Given the description of an element on the screen output the (x, y) to click on. 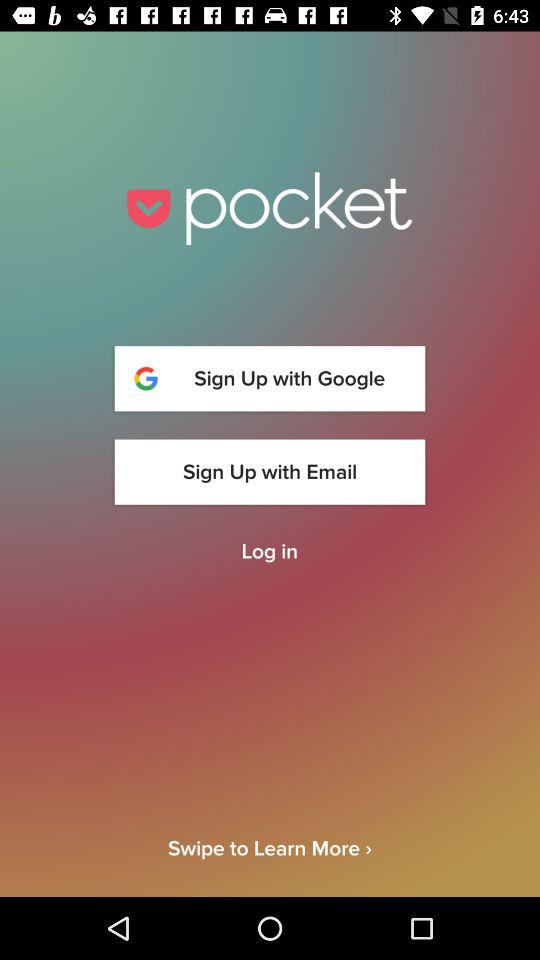
click the log in (269, 551)
